Given the description of an element on the screen output the (x, y) to click on. 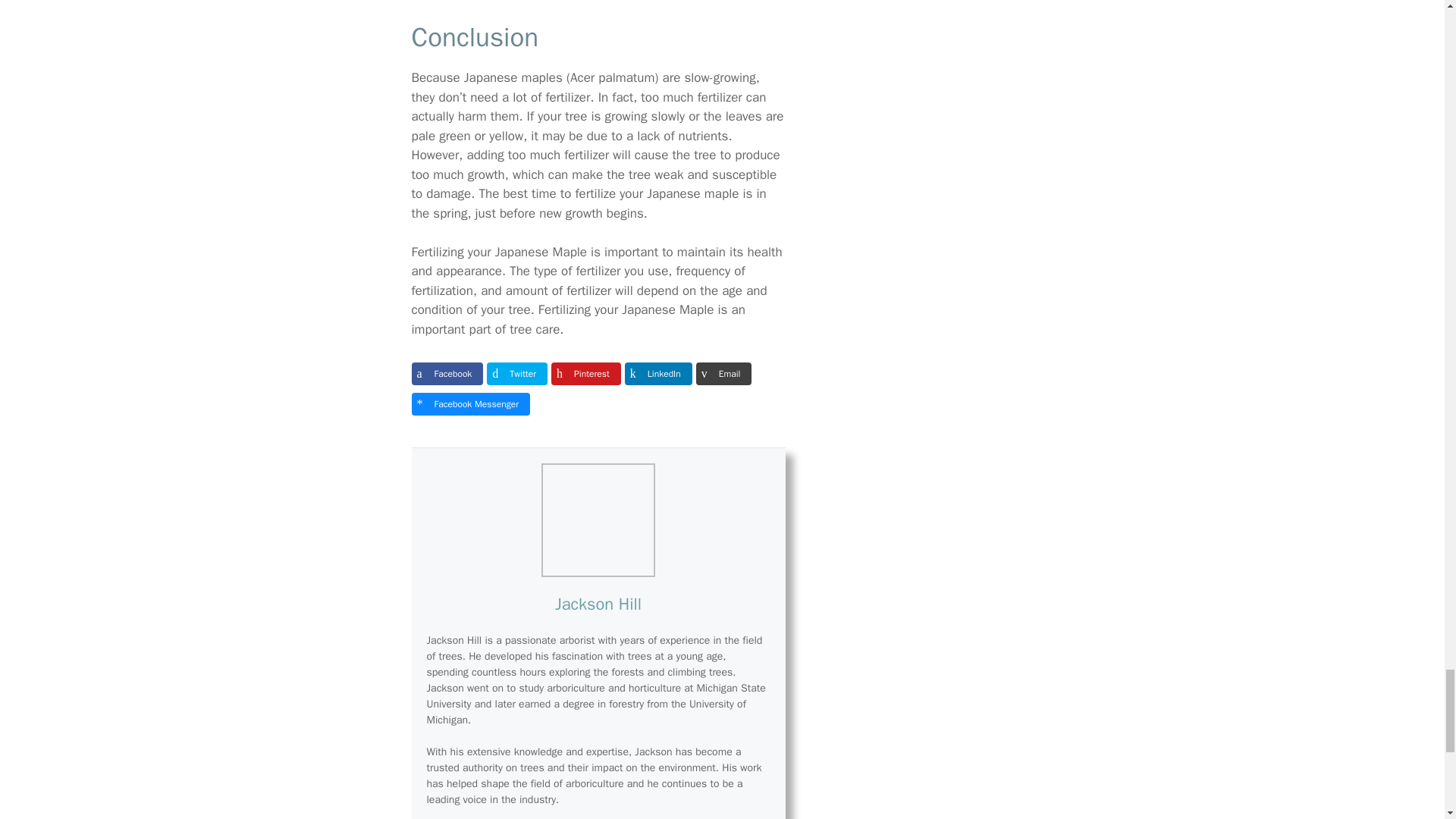
LinkedIn (658, 373)
Share on LinkedIn (658, 373)
Share on Pinterest (586, 373)
Share on Twitter (516, 373)
Pinterest (586, 373)
Share on Facebook (446, 373)
Facebook (446, 373)
Twitter (516, 373)
